Given the description of an element on the screen output the (x, y) to click on. 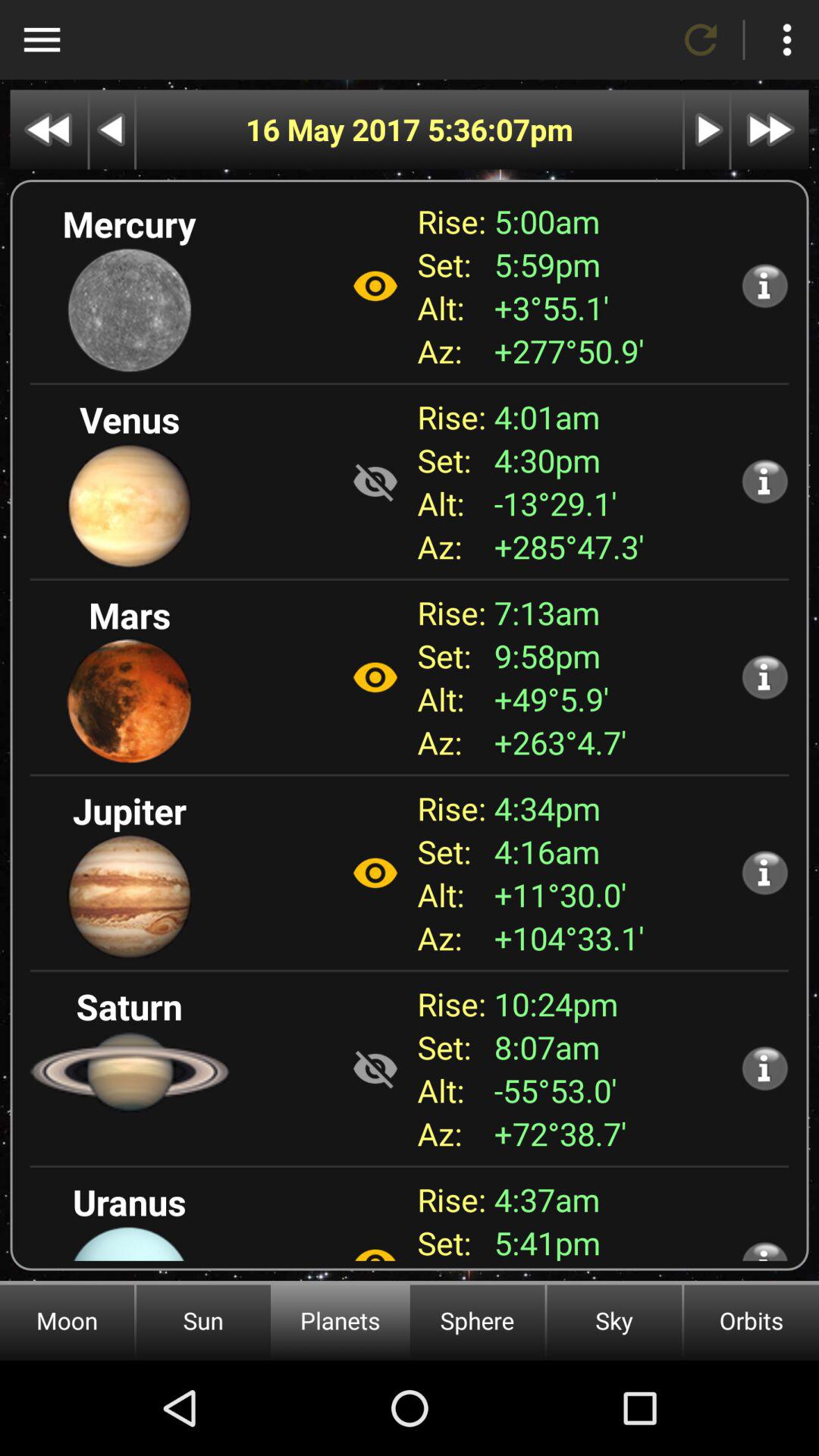
go to page 1 (48, 129)
